Given the description of an element on the screen output the (x, y) to click on. 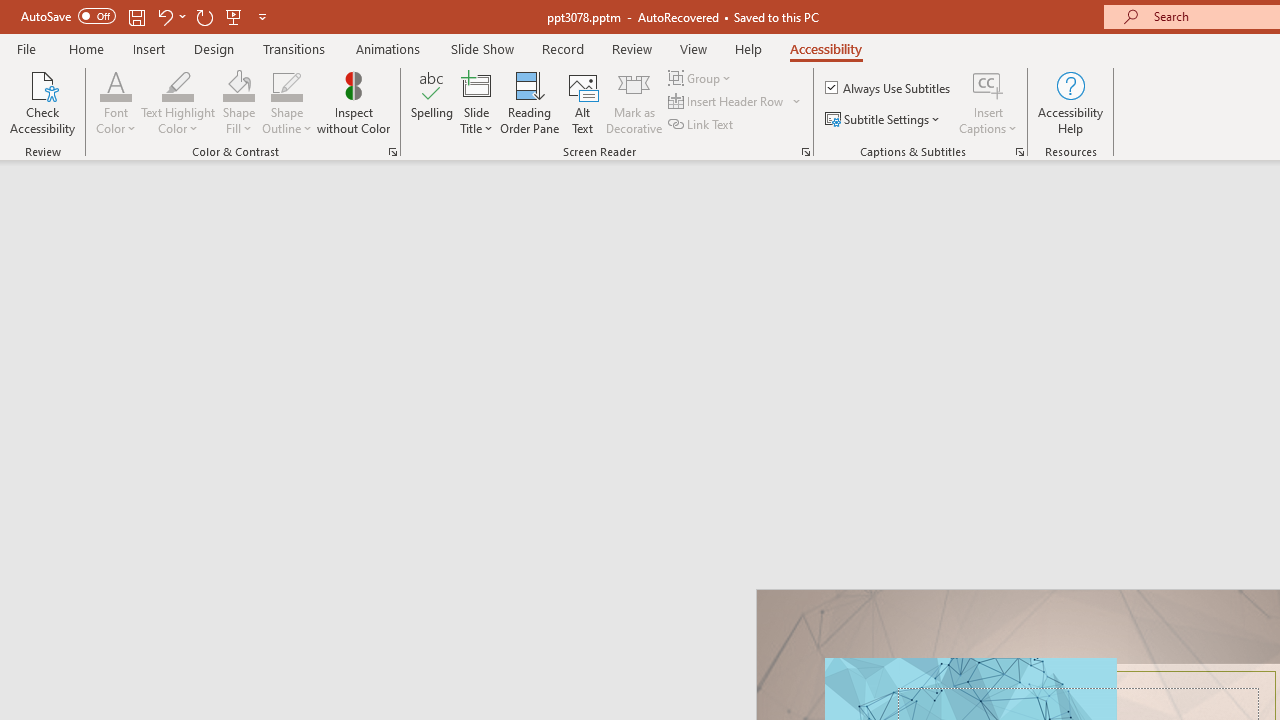
Subtitle Settings (884, 119)
Captions & Subtitles (1019, 151)
Screen Reader (805, 151)
Reading Order Pane (529, 102)
Link Text (702, 124)
